Given the description of an element on the screen output the (x, y) to click on. 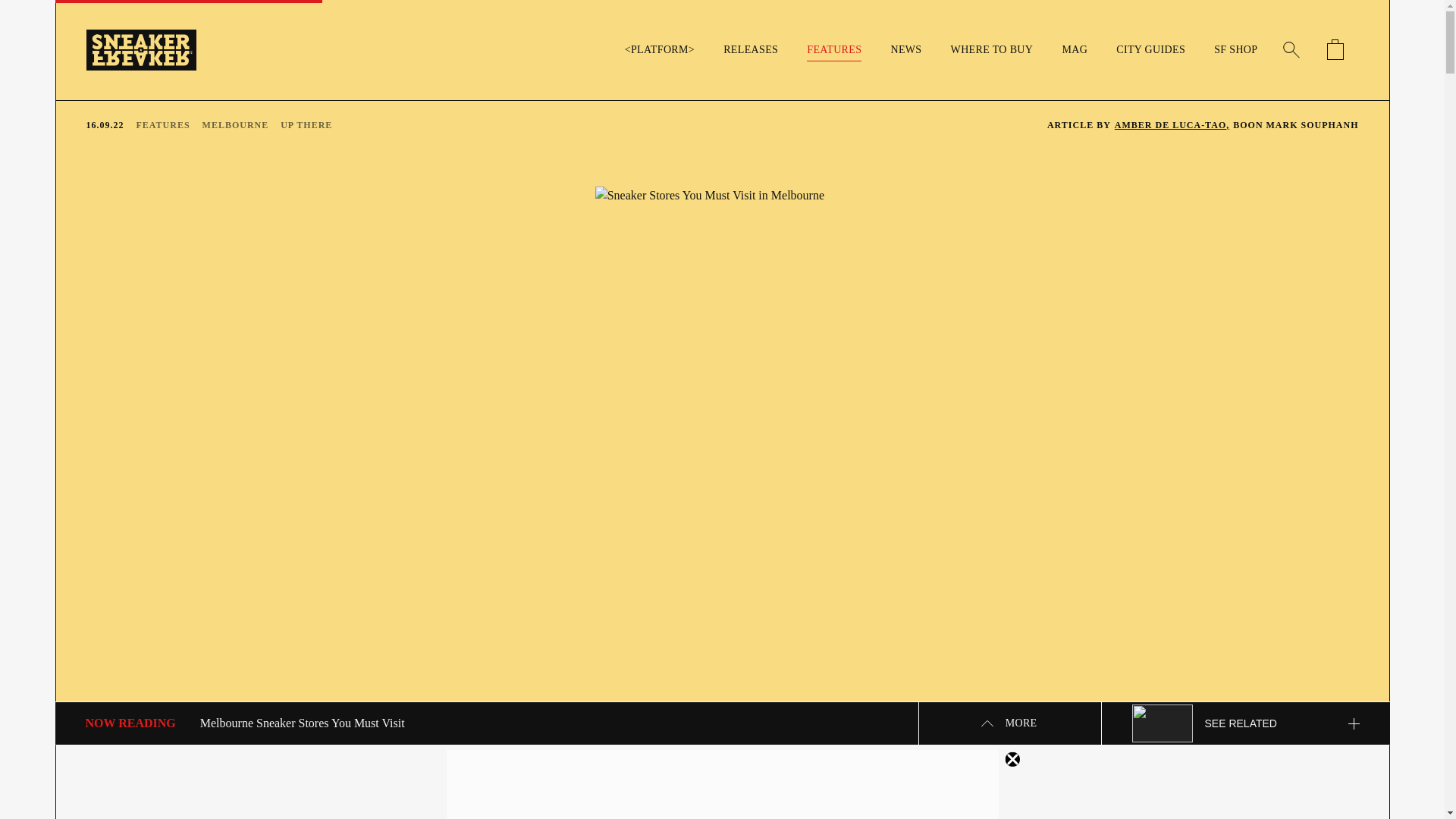
retail therapy (787, 763)
WHERE TO BUY (992, 50)
SF SHOP (1235, 50)
NEWS (906, 50)
FEATURES (162, 124)
MAG (1074, 50)
RELEASES (750, 50)
AMBER DE LUCA-TAO, (1171, 124)
FEATURES (834, 50)
UP THERE (306, 124)
, (1013, 759)
CITY GUIDES (1150, 50)
MELBOURNE (235, 124)
